Given the description of an element on the screen output the (x, y) to click on. 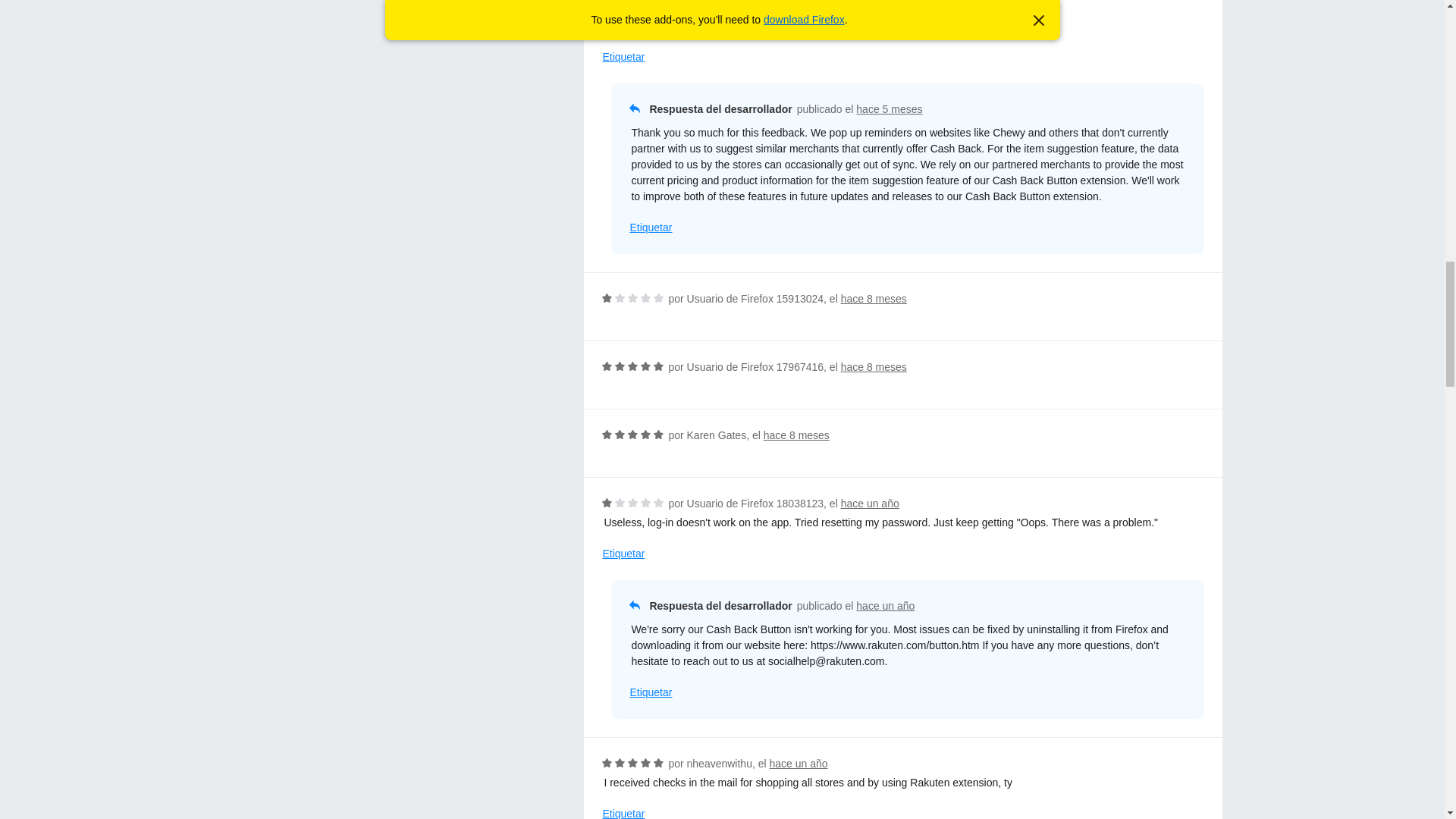
hace 5 meses (888, 109)
Etiquetar (649, 227)
Etiquetar (623, 57)
